Given the description of an element on the screen output the (x, y) to click on. 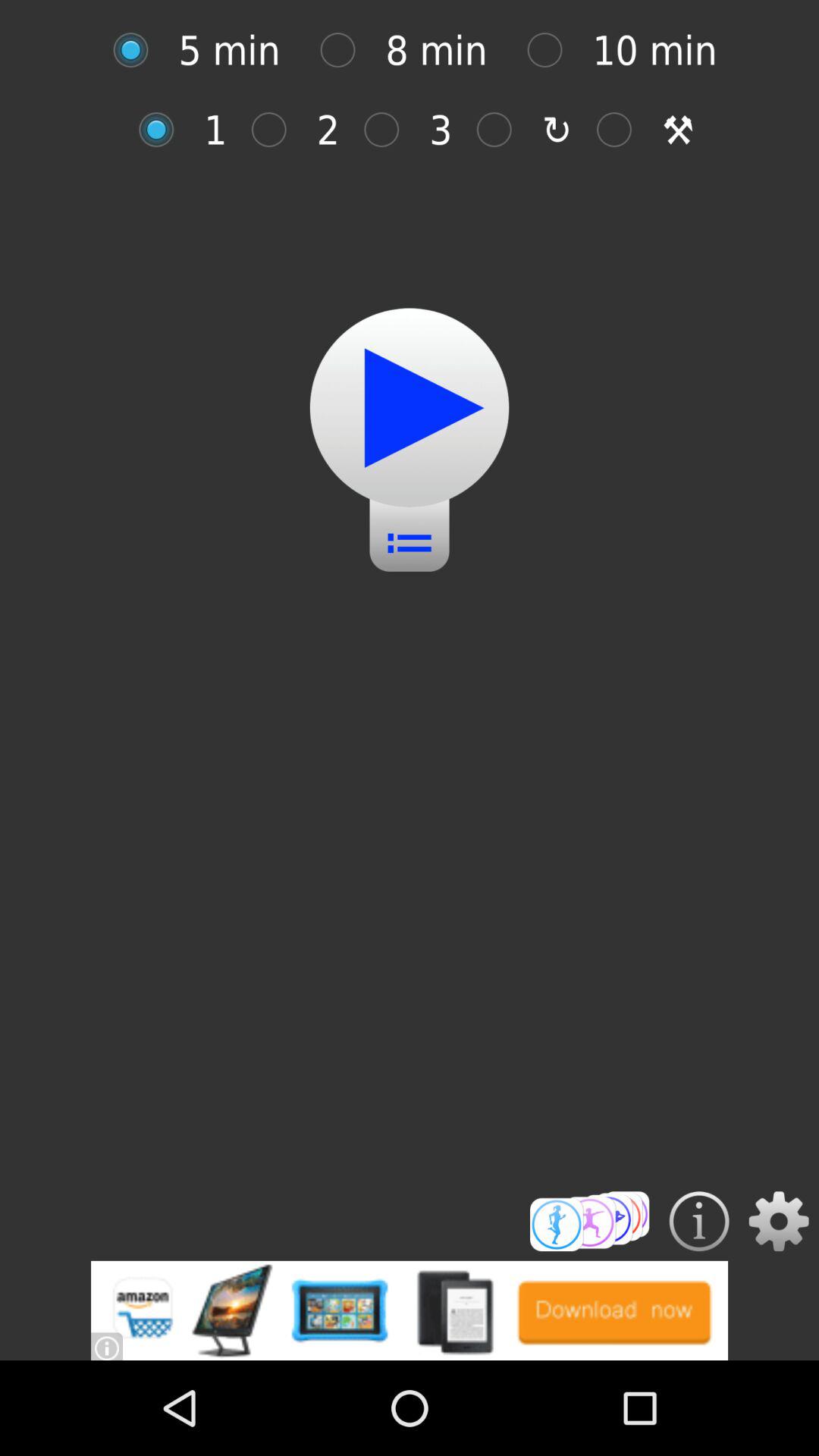
8 min selection option (345, 49)
